Given the description of an element on the screen output the (x, y) to click on. 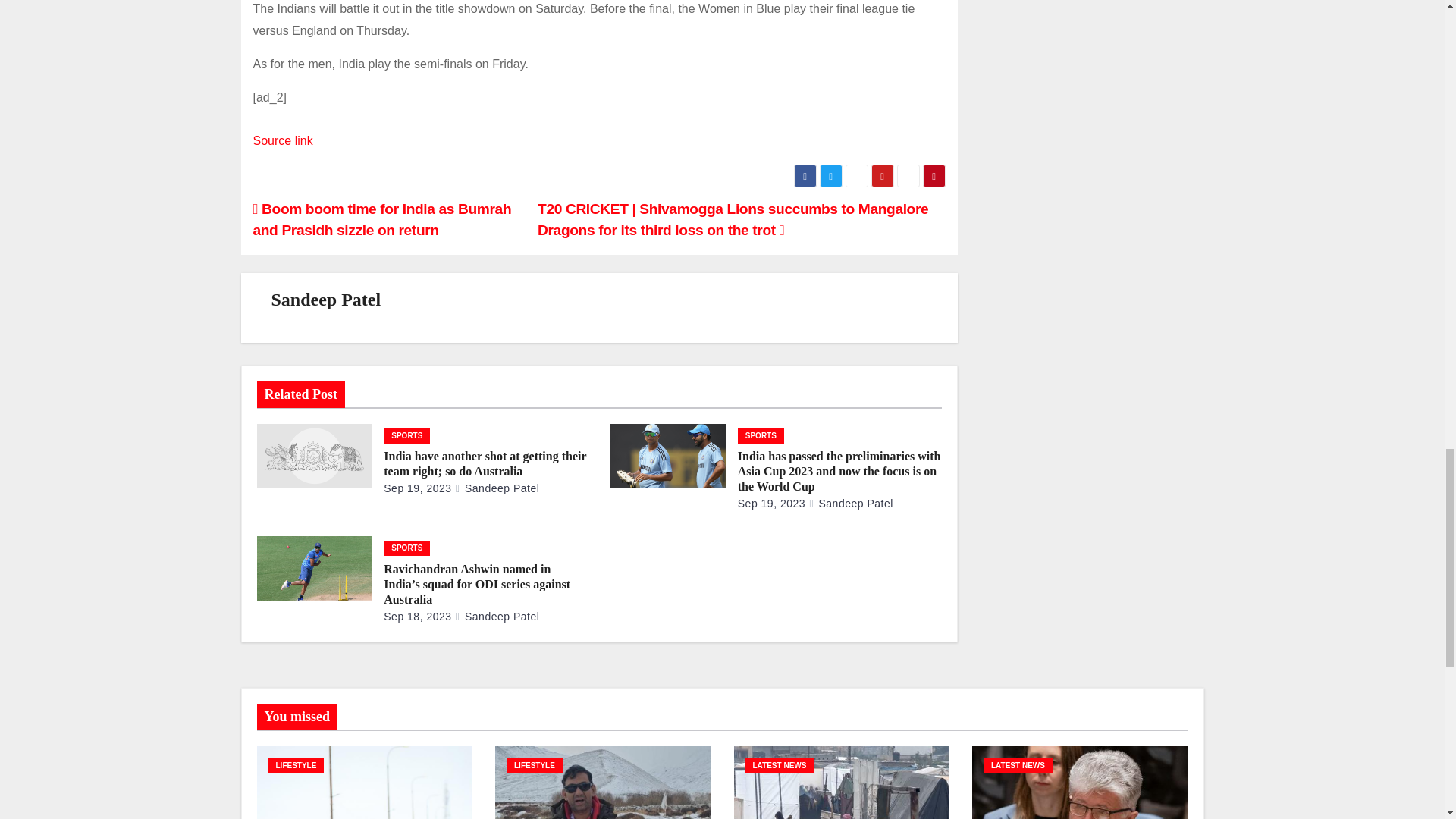
Sandeep Patel (496, 488)
Sep 19, 2023 (417, 488)
Source link (283, 140)
SPORTS (406, 435)
Sandeep Patel (325, 299)
